Given the description of an element on the screen output the (x, y) to click on. 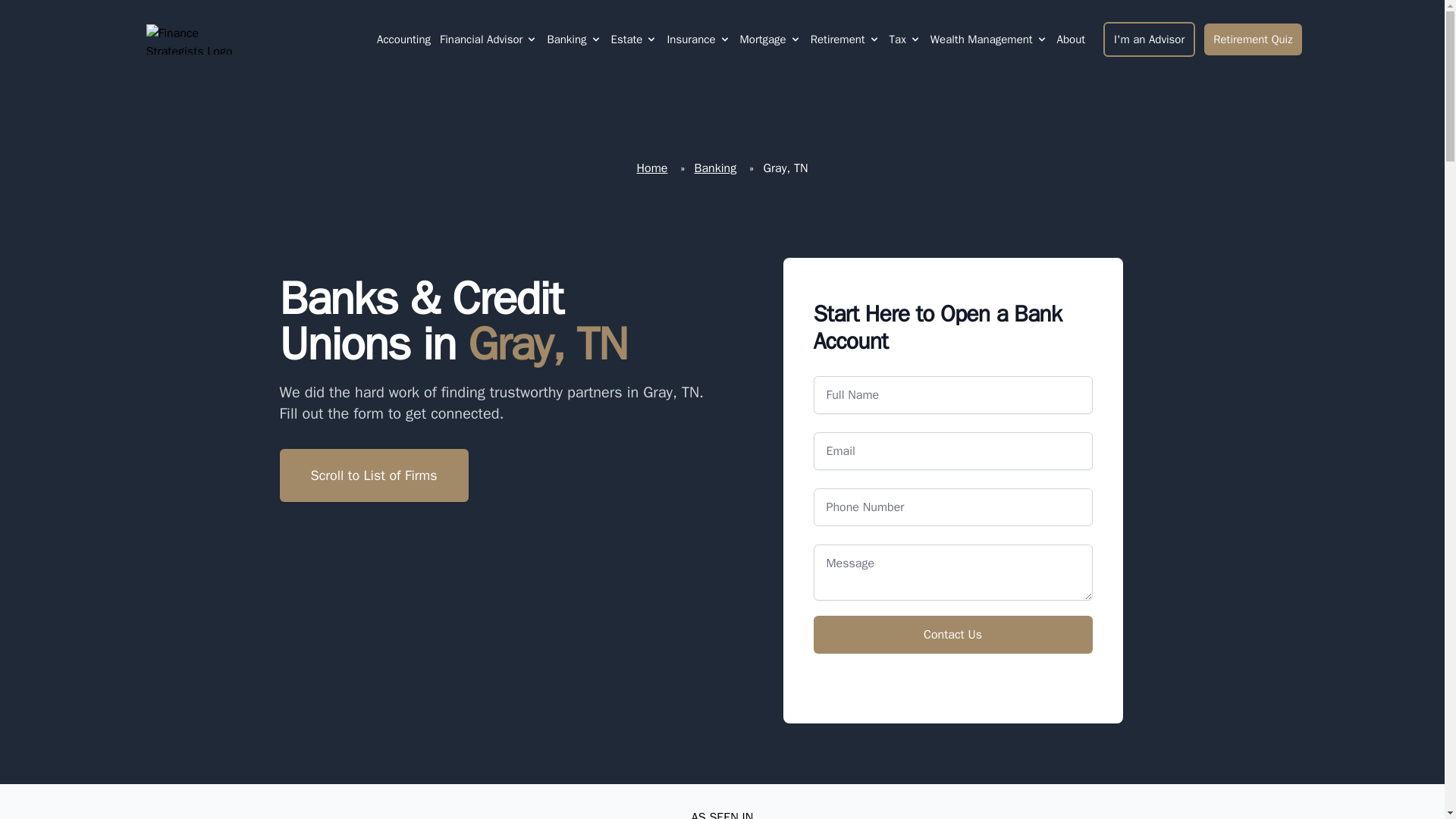
Finance Strategists (199, 39)
Financial Advisor (488, 39)
Banking (573, 39)
Accounting (403, 39)
Accounting (403, 39)
Banking (566, 39)
Financial Advisor (480, 39)
